Given the description of an element on the screen output the (x, y) to click on. 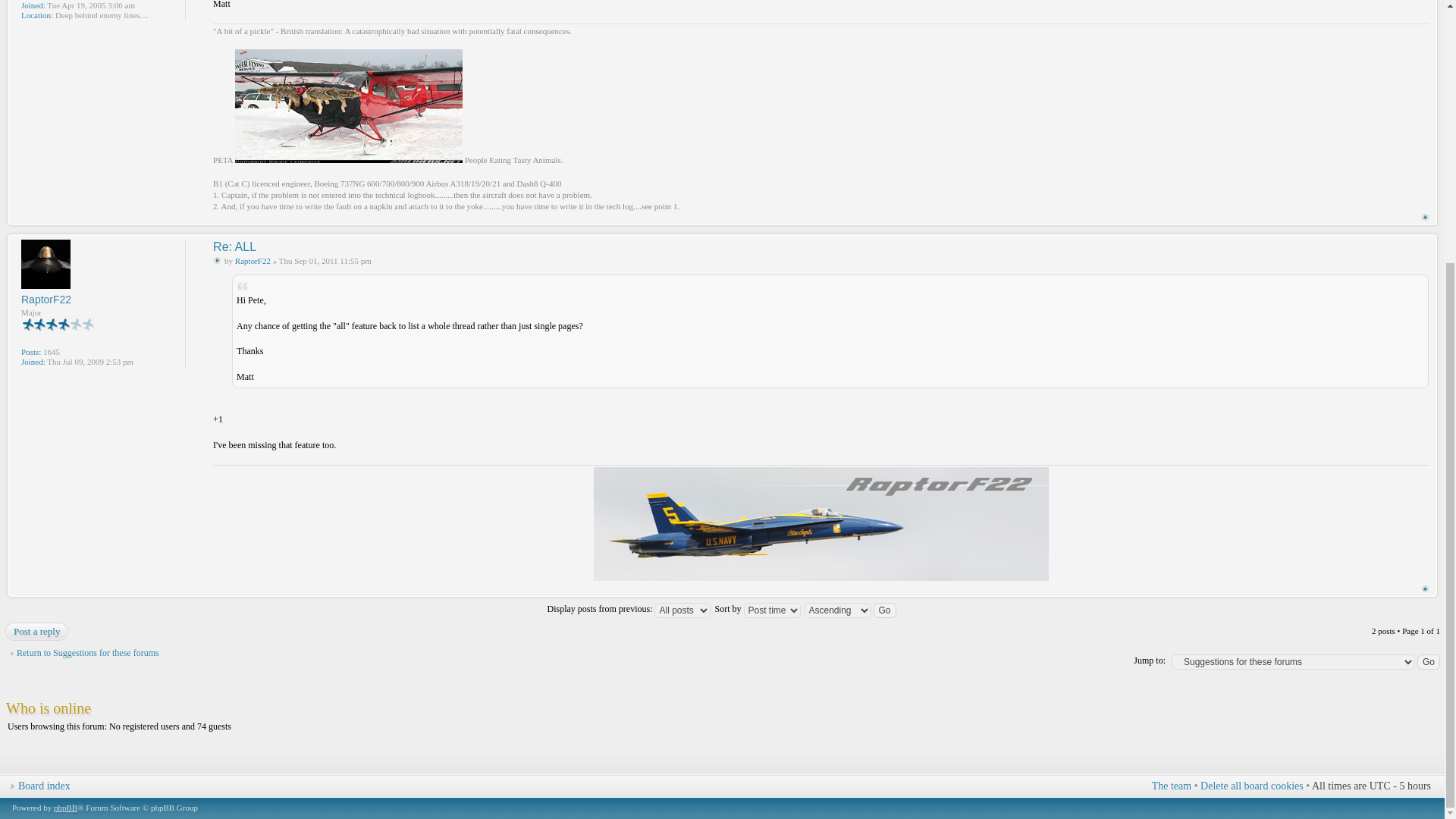
Top (1425, 216)
Go (1427, 661)
Board index (43, 785)
Delete all board cookies (1251, 785)
Post (216, 260)
Return to Suggestions for these forums (82, 652)
Go (884, 610)
The team (1171, 785)
phpBB (65, 807)
Top (1425, 216)
RaptorF22 (46, 299)
Re: ALL (234, 246)
Post a reply (39, 631)
Go (884, 610)
Top (1425, 588)
